Given the description of an element on the screen output the (x, y) to click on. 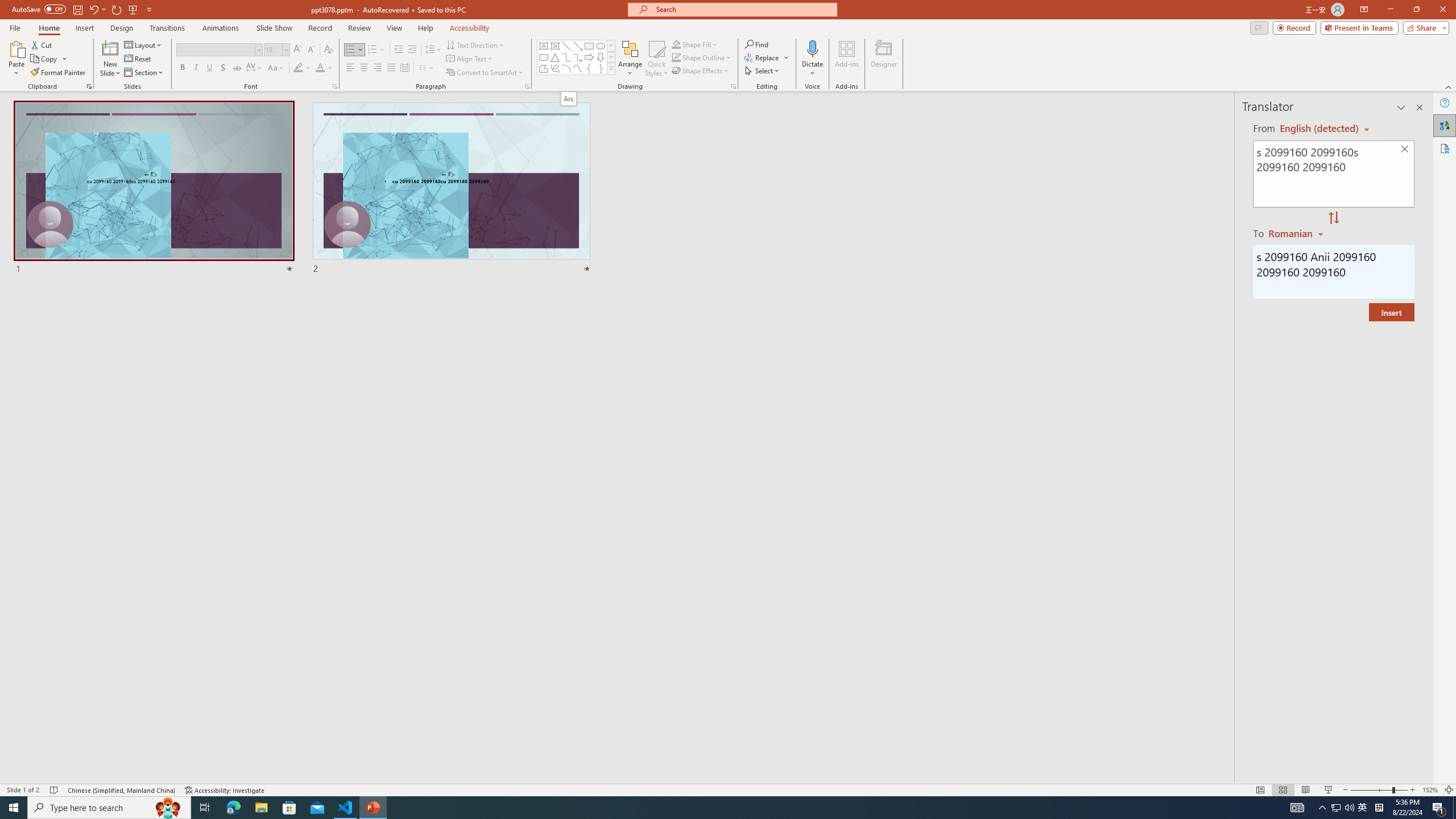
Czech (detected) (1319, 128)
Clear text (1404, 149)
Text Direction (476, 44)
Translator (1444, 125)
Find... (756, 44)
